Given the description of an element on the screen output the (x, y) to click on. 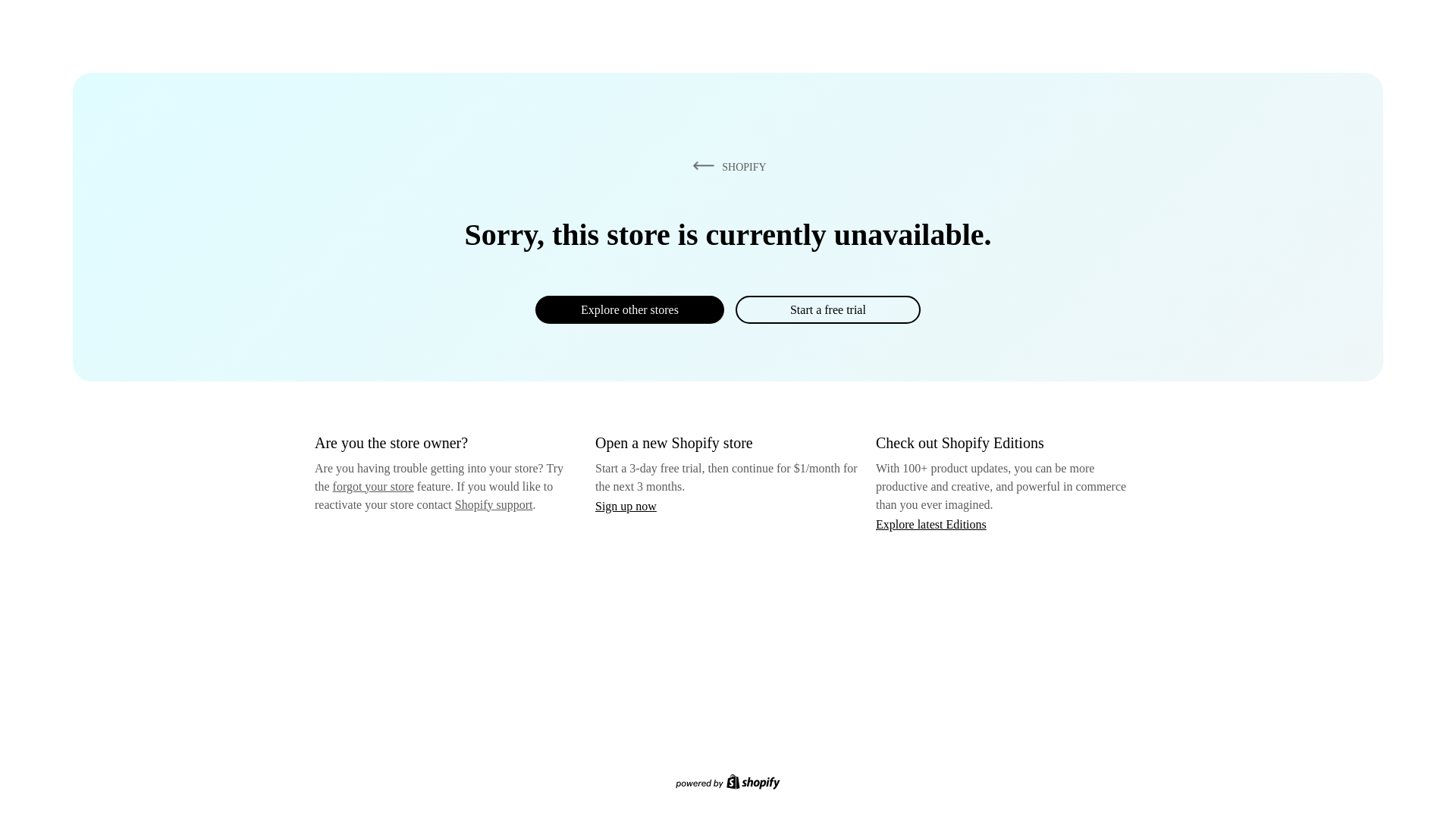
Start a free trial (827, 309)
forgot your store (373, 486)
SHOPIFY (726, 166)
Sign up now (625, 505)
Explore other stores (629, 309)
Shopify support (493, 504)
Explore latest Editions (931, 523)
